Given the description of an element on the screen output the (x, y) to click on. 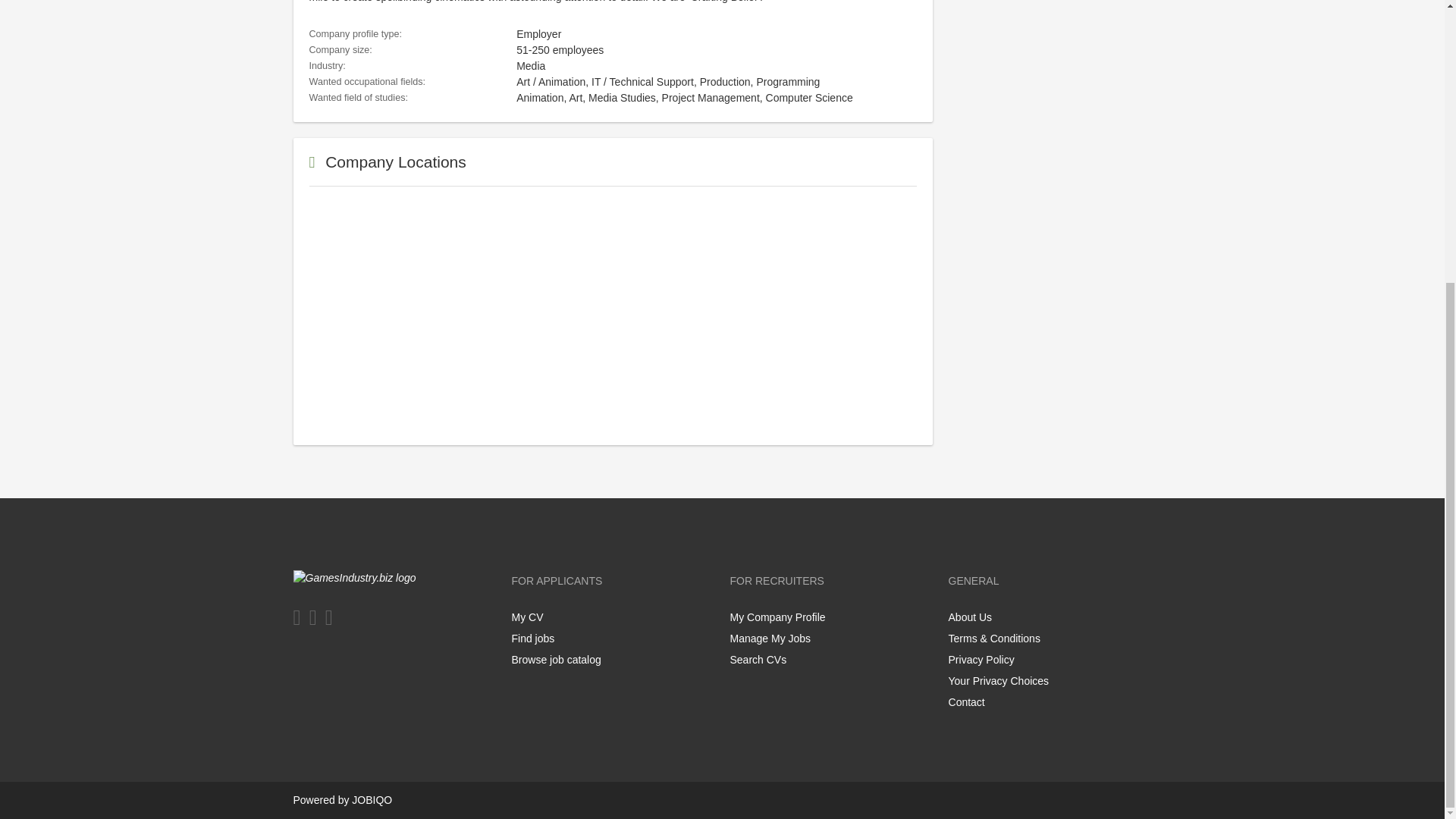
Your Privacy Choices (1001, 680)
My Company Profile (777, 616)
Search CVs (757, 659)
About Us (970, 616)
Browse job catalog (555, 659)
Manage My Jobs (769, 638)
JOBIQO (371, 799)
Contact (967, 702)
Find jobs (532, 638)
My CV (527, 616)
